Given the description of an element on the screen output the (x, y) to click on. 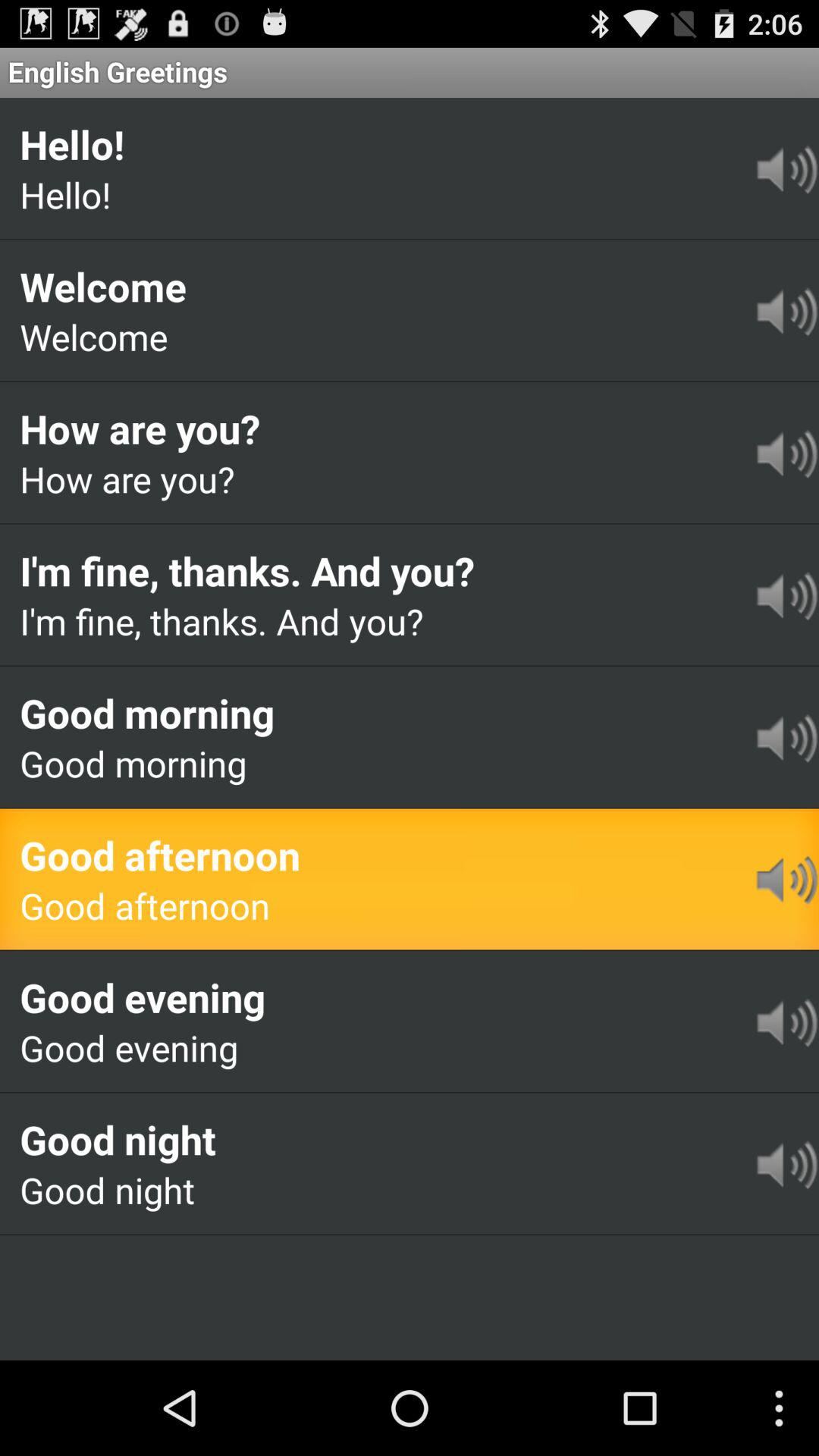
launch goodbye item (98, 1257)
